Given the description of an element on the screen output the (x, y) to click on. 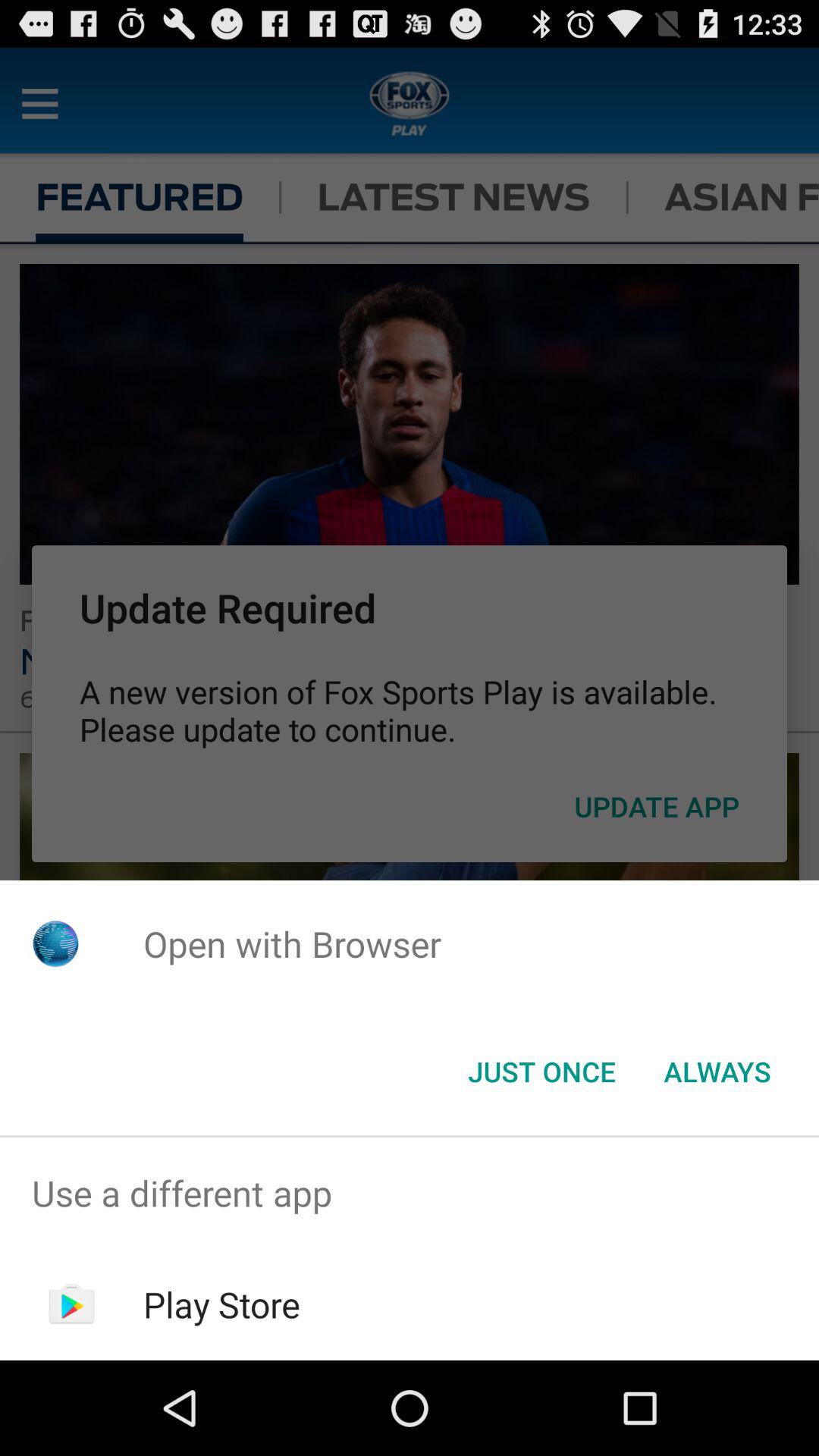
turn on just once icon (541, 1071)
